Given the description of an element on the screen output the (x, y) to click on. 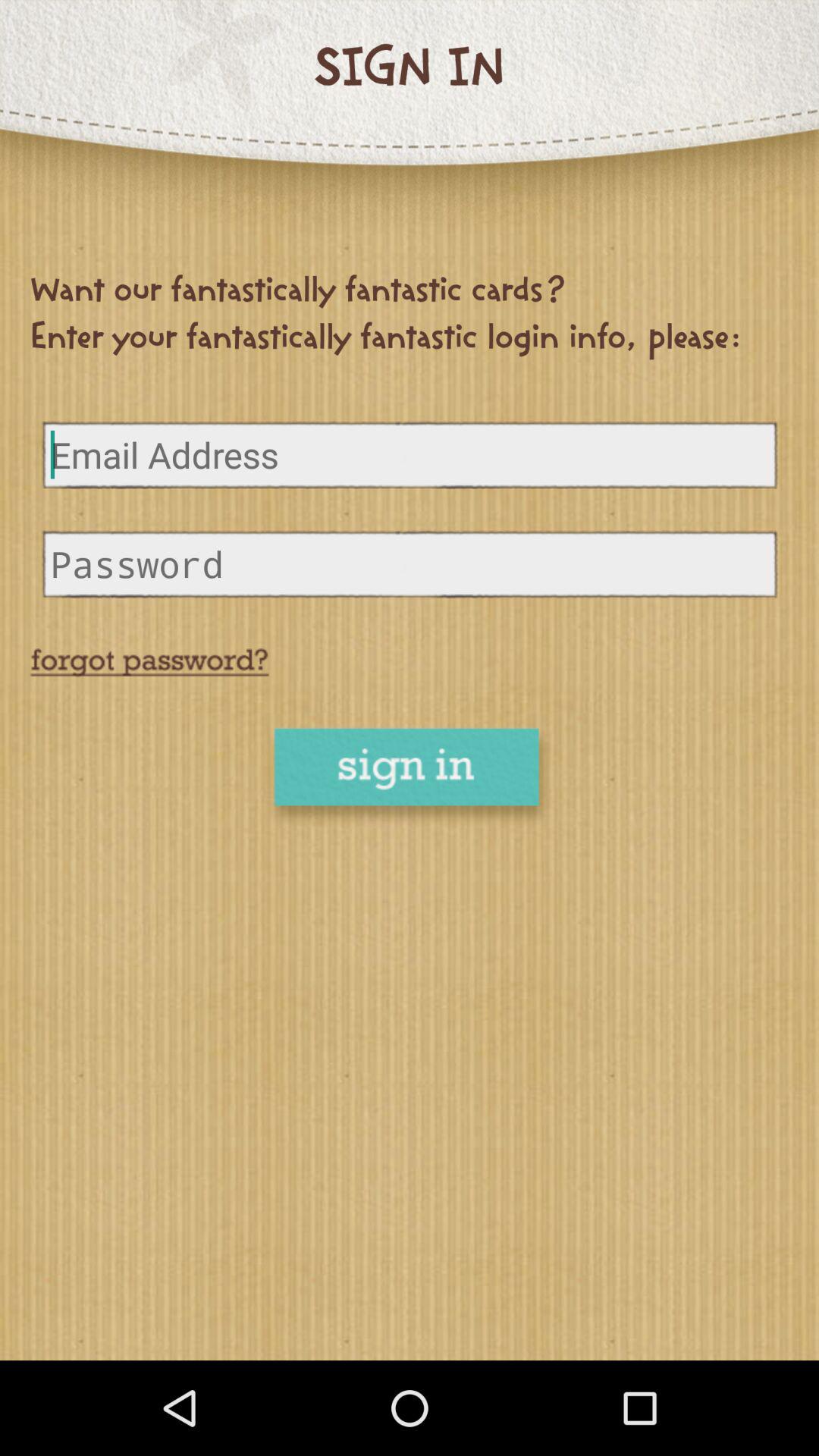
sign in (409, 777)
